Given the description of an element on the screen output the (x, y) to click on. 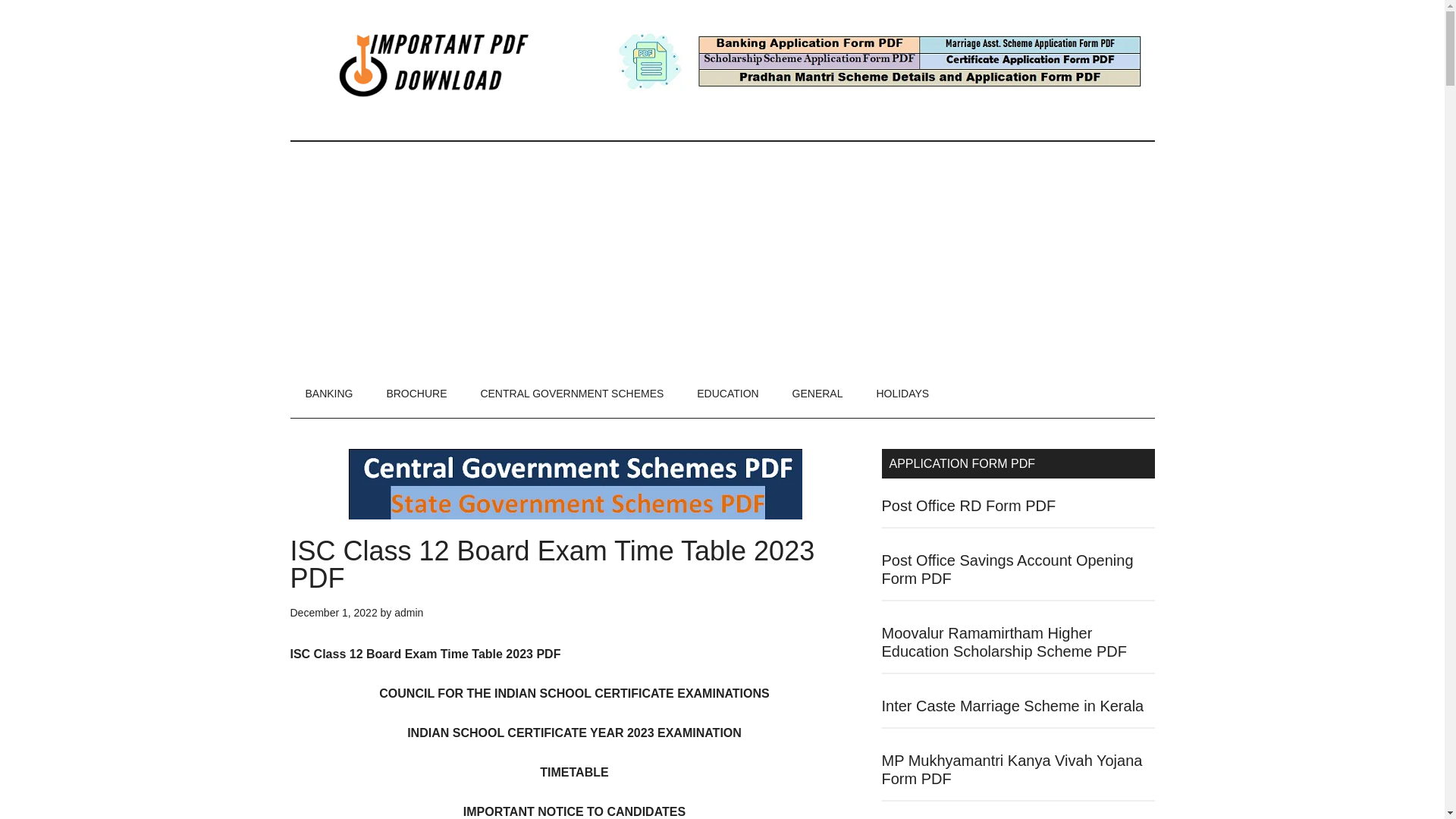
EDUCATION (727, 393)
BANKING (328, 393)
BROCHURE (416, 393)
Important PDF Download (433, 64)
GENERAL (818, 393)
admin (408, 612)
CENTRAL GOVERNMENT SCHEMES (571, 393)
HOLIDAYS (901, 393)
